Given the description of an element on the screen output the (x, y) to click on. 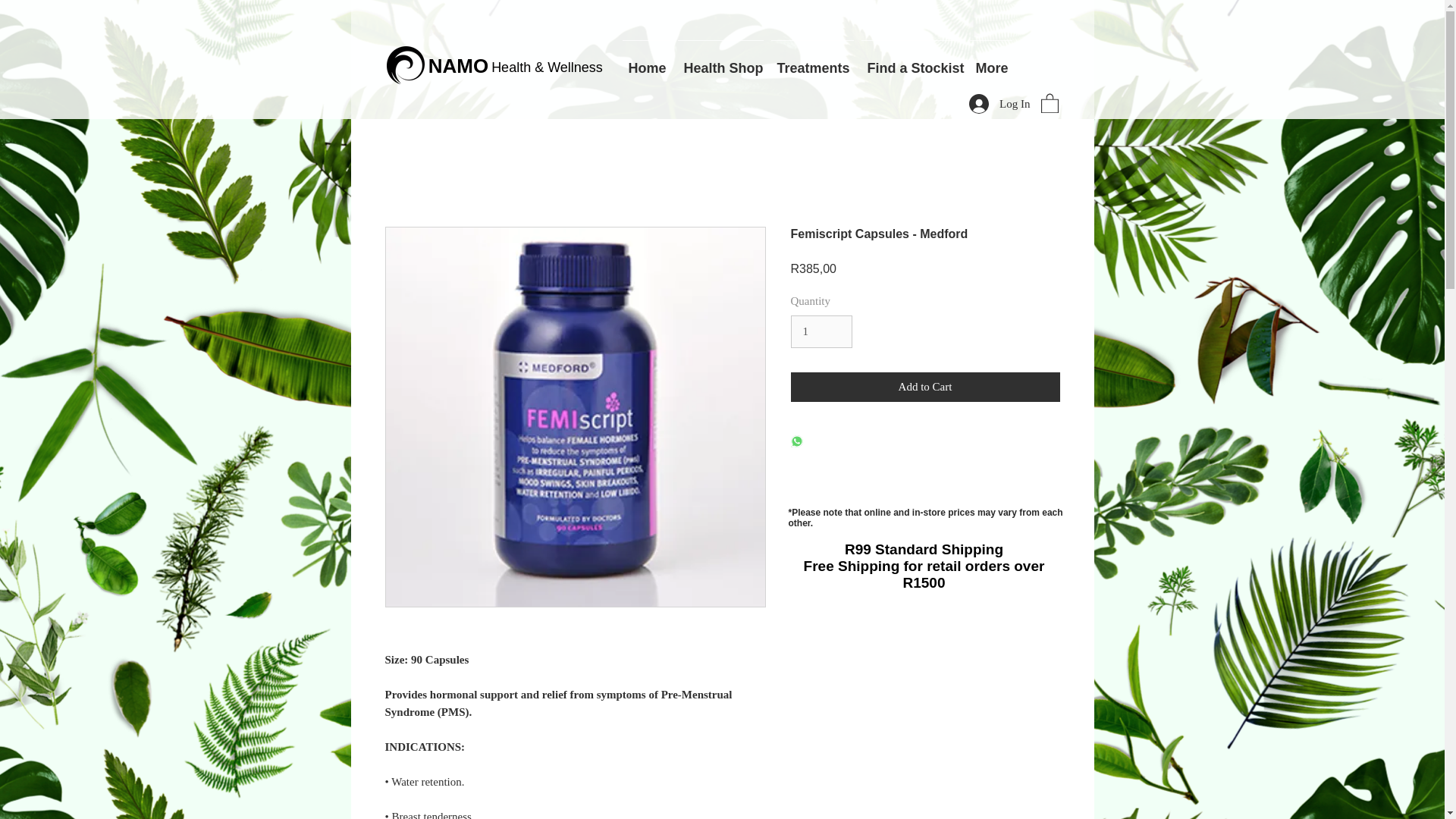
Add to Cart (924, 387)
Treatments (812, 61)
Health Shop (719, 61)
Find a Stockist (911, 61)
Home (646, 61)
NAMO (457, 65)
1 (820, 331)
Log In (999, 103)
